Given the description of an element on the screen output the (x, y) to click on. 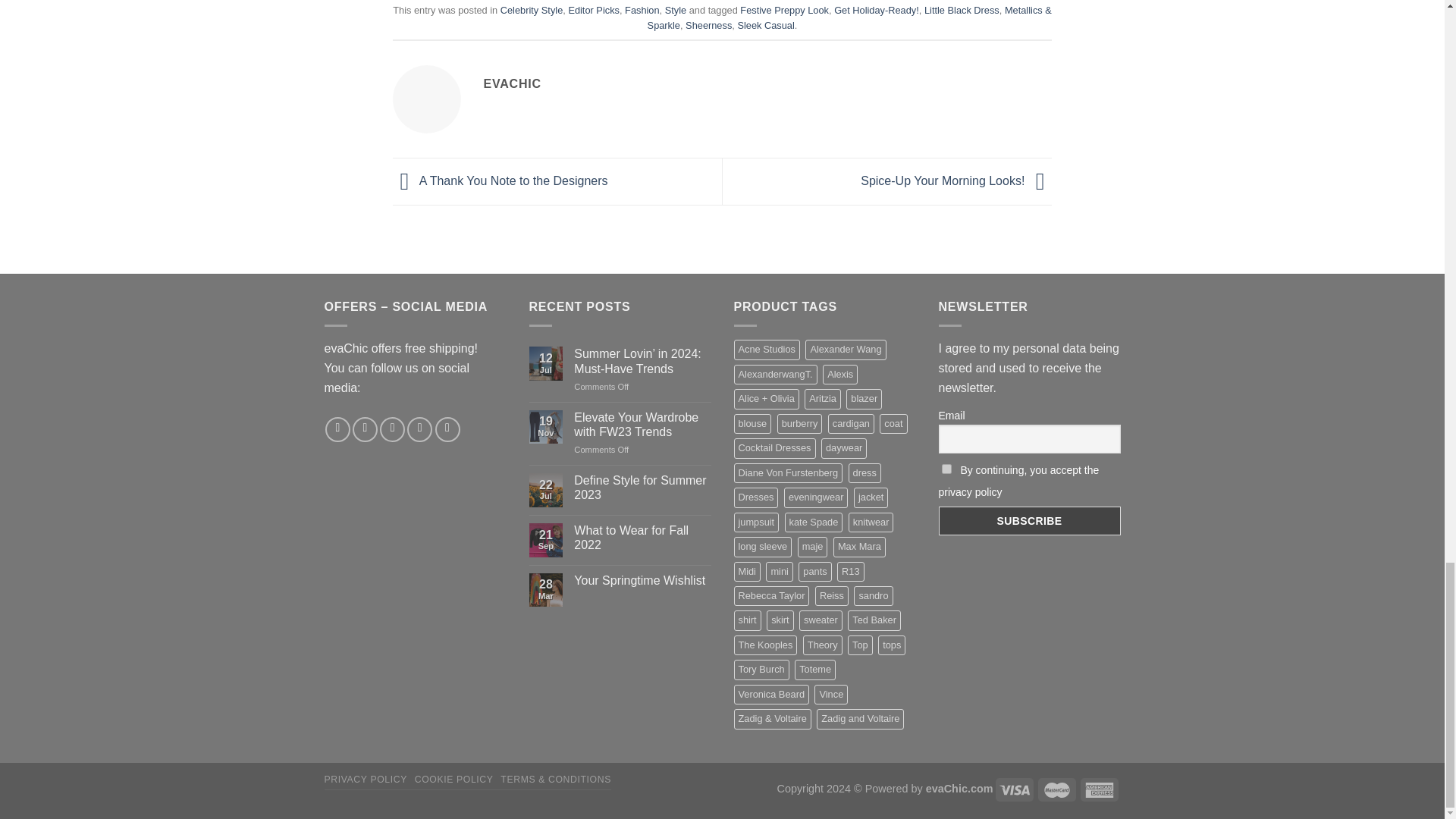
Subscribe (1030, 520)
Follow on Twitter (392, 429)
Follow on Pinterest (447, 429)
Follow on Facebook (337, 429)
Follow on Instagram (364, 429)
on (947, 469)
Send us an email (419, 429)
